Given the description of an element on the screen output the (x, y) to click on. 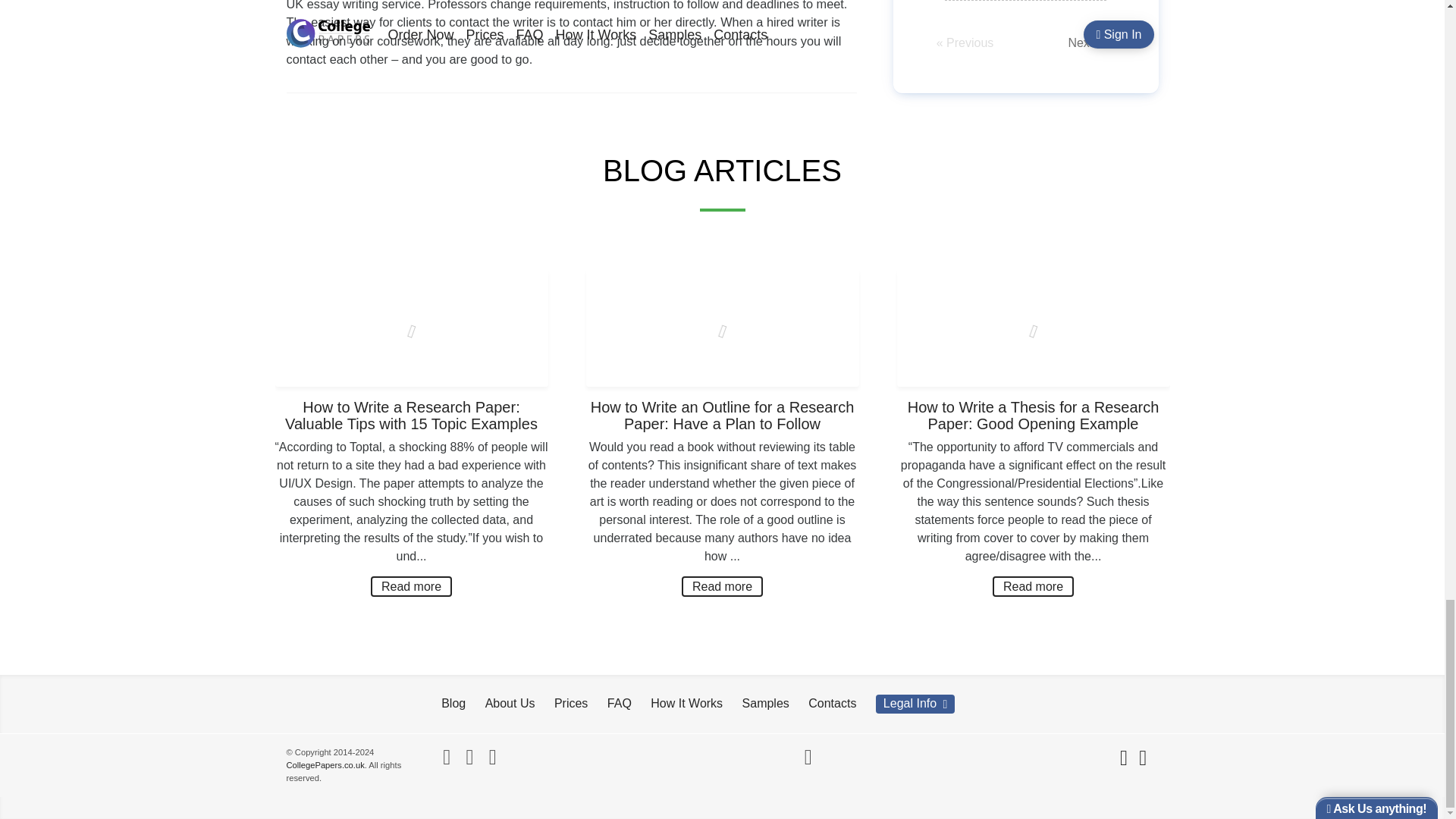
Read more (411, 586)
Read more (1033, 586)
FAQ (619, 703)
BLOG ARTICLES (721, 170)
About Us (509, 703)
How It Works (686, 703)
Read more (721, 586)
